Given the description of an element on the screen output the (x, y) to click on. 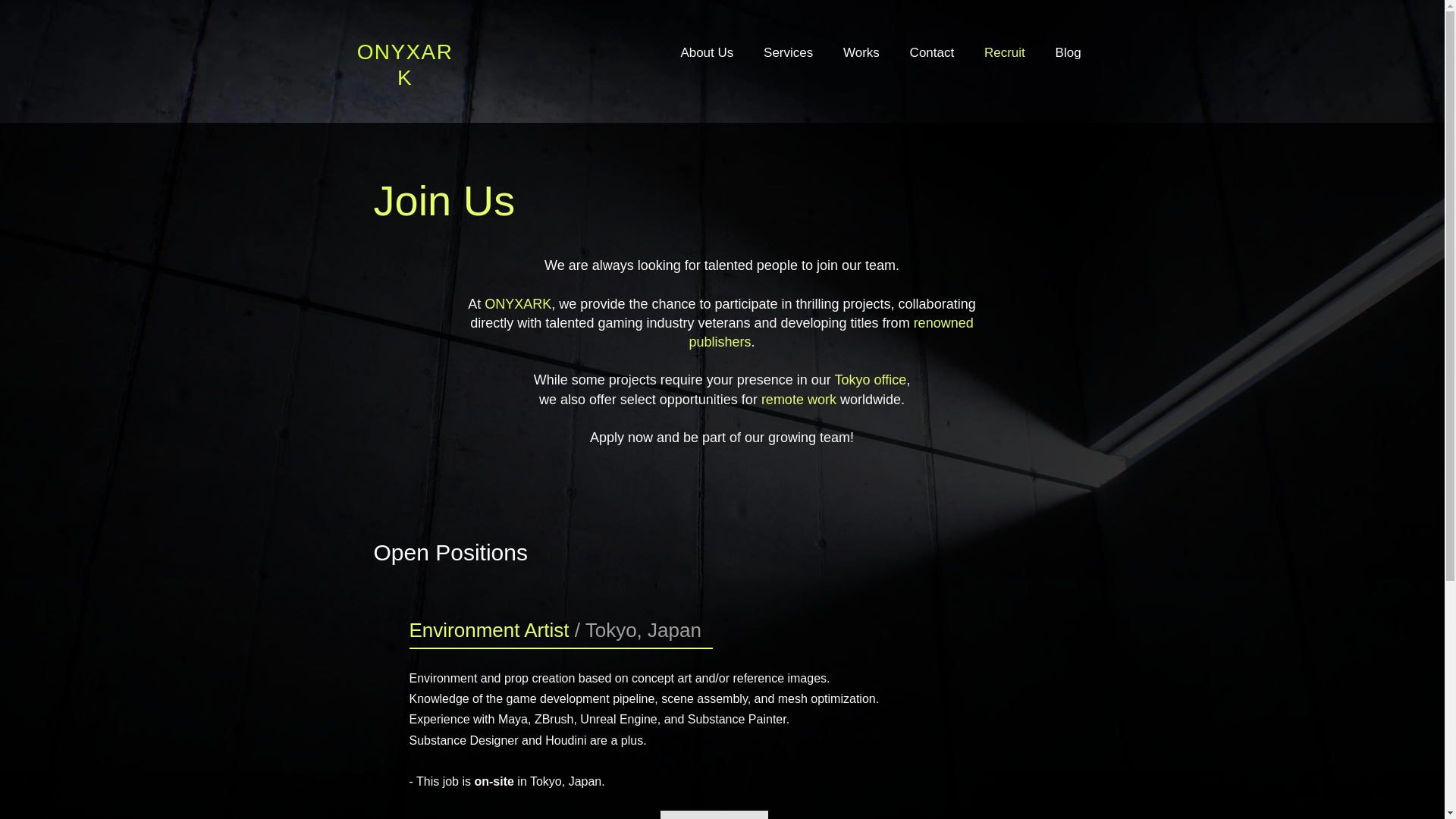
Contact (932, 52)
About Us (706, 52)
Recruit (1004, 52)
More Details (713, 814)
Works (861, 52)
Services (788, 52)
Blog (1068, 52)
ONYXARK (404, 64)
